Given the description of an element on the screen output the (x, y) to click on. 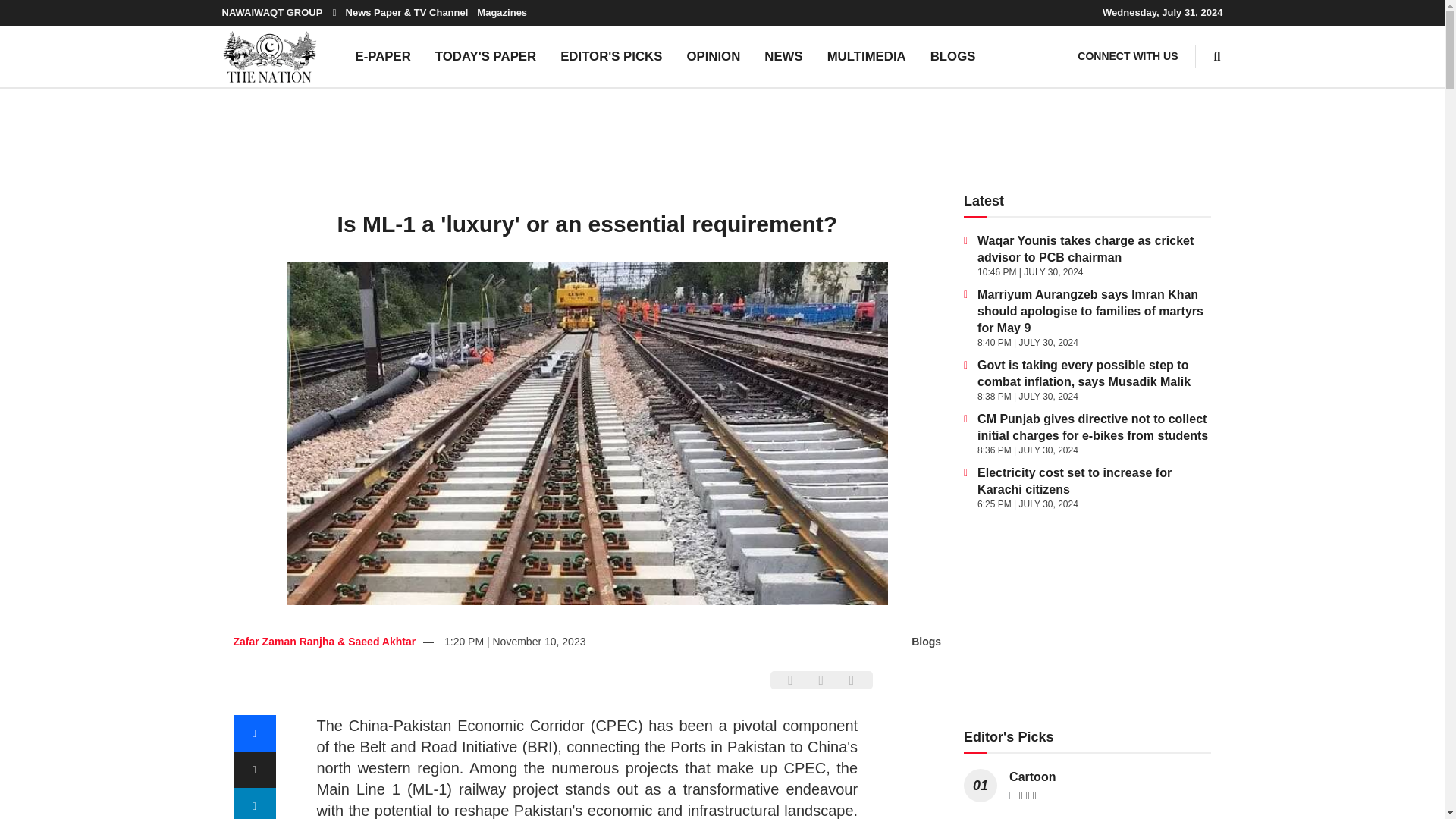
E-PAPER (382, 55)
EDITOR'S PICKS (611, 55)
BLOGS (953, 55)
MULTIMEDIA (866, 55)
OPINION (713, 55)
NEWS (782, 55)
TODAY'S PAPER (485, 55)
Magazines (502, 12)
